Given the description of an element on the screen output the (x, y) to click on. 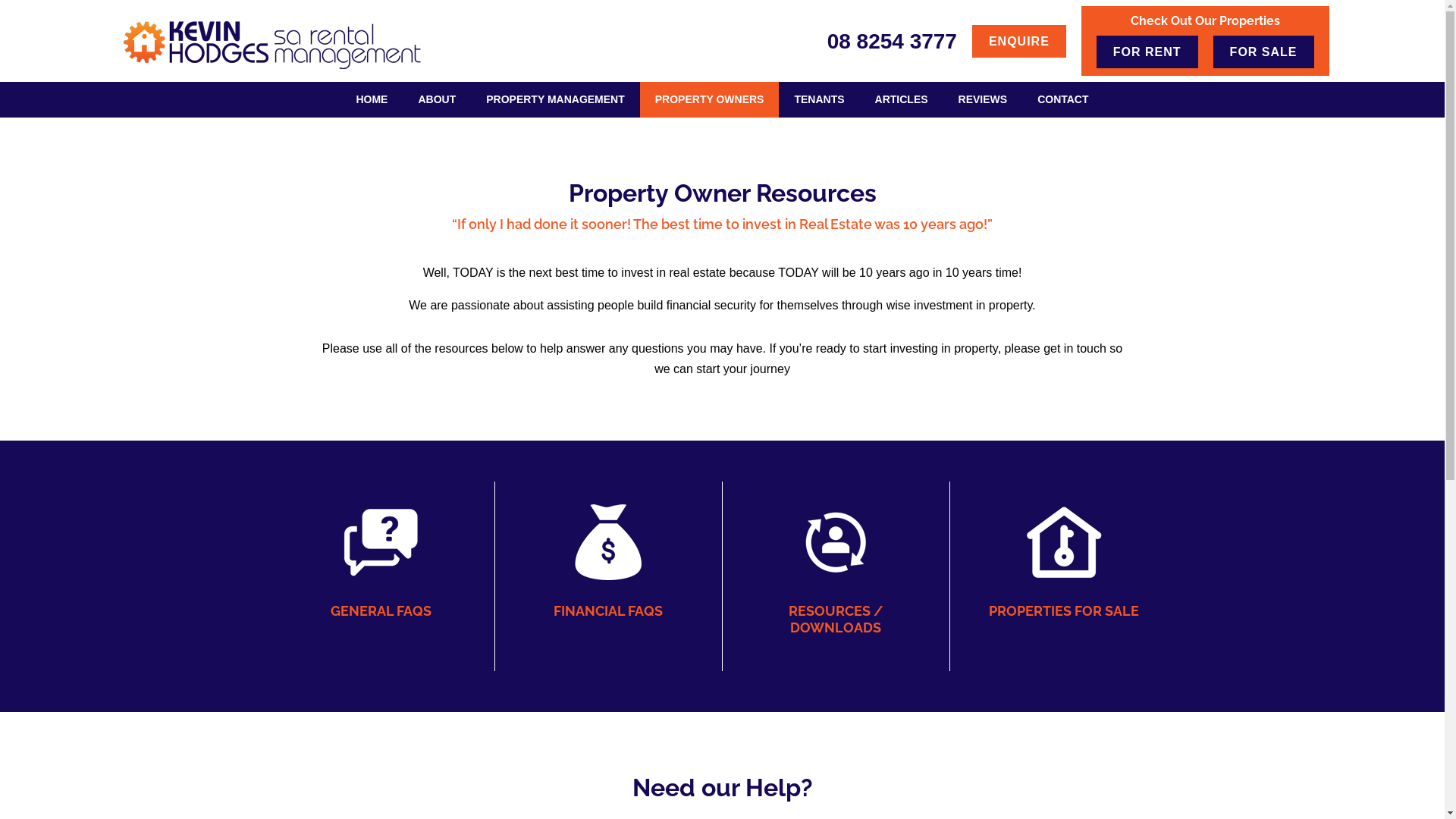
TENANTS Element type: text (818, 99)
CONTACT Element type: text (1062, 99)
REVIEWS Element type: text (982, 99)
kevin-hodges-logo Element type: hover (274, 45)
08 8254 3777 Element type: text (892, 41)
PROPERTY OWNERS Element type: text (709, 99)
PROPERTY MANAGEMENT Element type: text (555, 99)
HOME Element type: text (371, 99)
ABOUT Element type: text (436, 99)
ENQUIRE Element type: text (1019, 41)
FOR SALE Element type: text (1263, 51)
FOR RENT Element type: text (1147, 51)
ARTICLES Element type: text (901, 99)
